Given the description of an element on the screen output the (x, y) to click on. 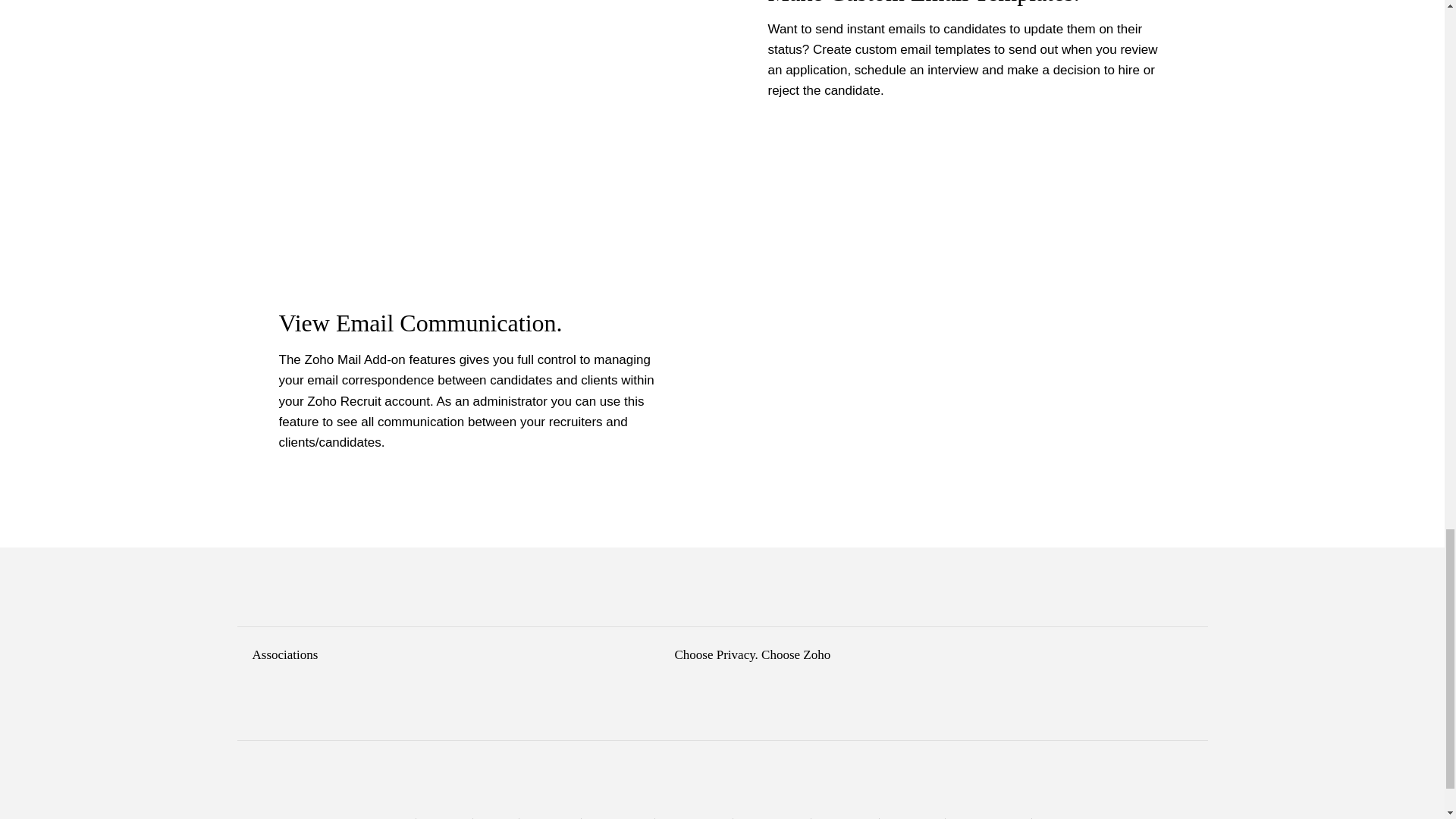
Cookie Policy (911, 818)
Compliance (551, 818)
Anti-spam Policy (693, 818)
Zoho Home (385, 818)
Contact Us (443, 818)
GDPR Compliance (988, 818)
Terms of Service (772, 818)
Abuse Policy (1063, 818)
Privacy Policy (844, 818)
IPR Complaints (617, 818)
